Given the description of an element on the screen output the (x, y) to click on. 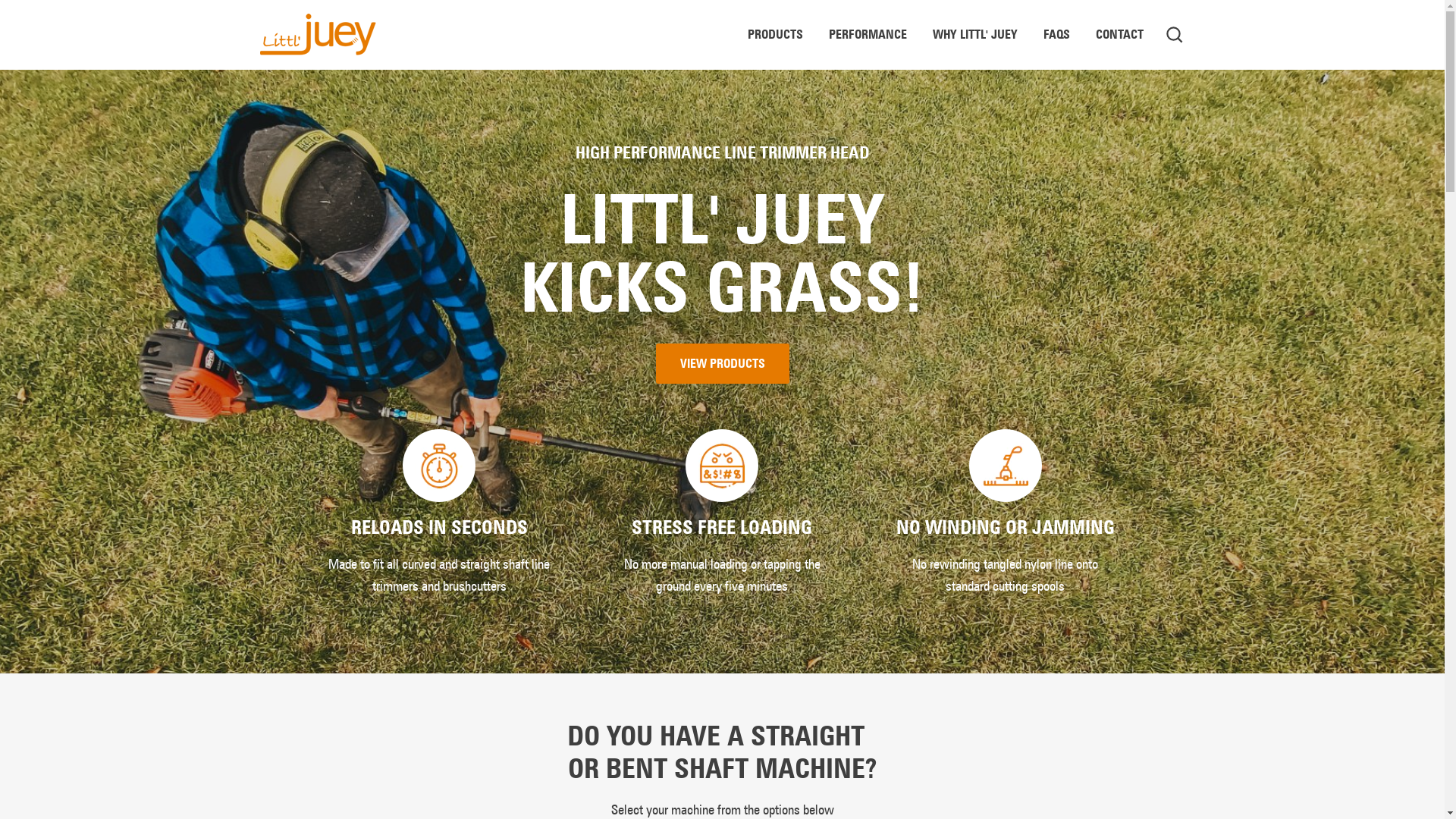
SEARCH Element type: text (1173, 34)
CONTACT Element type: text (1119, 34)
WHY LITTL' JUEY Element type: text (974, 34)
FAQS Element type: text (1055, 34)
PERFORMANCE Element type: text (867, 34)
VIEW PRODUCTS Element type: text (721, 363)
PRODUCTS Element type: text (774, 34)
Skip to content Element type: text (0, 0)
